Given the description of an element on the screen output the (x, y) to click on. 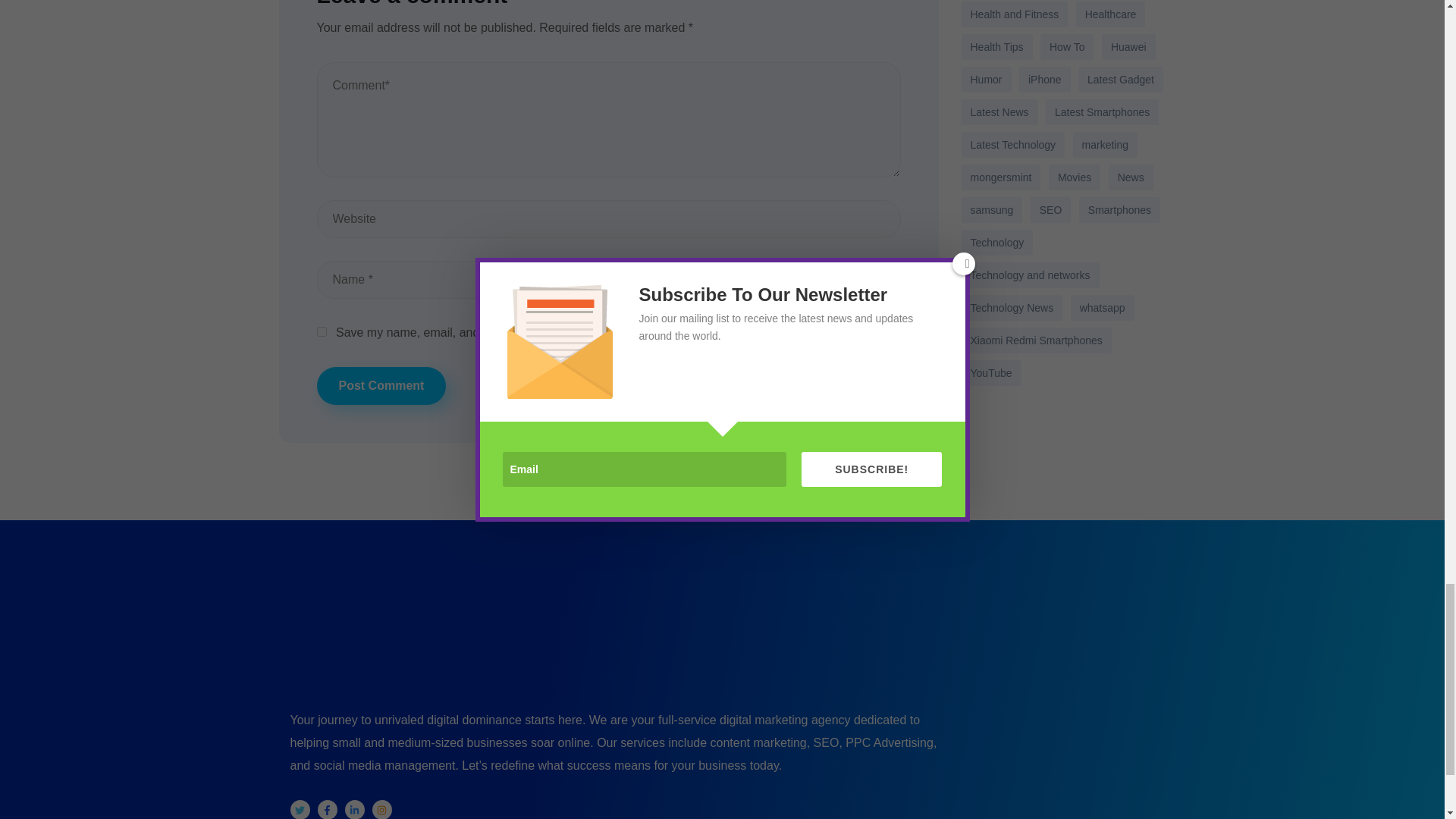
Post Comment (381, 385)
yes (321, 331)
